Given the description of an element on the screen output the (x, y) to click on. 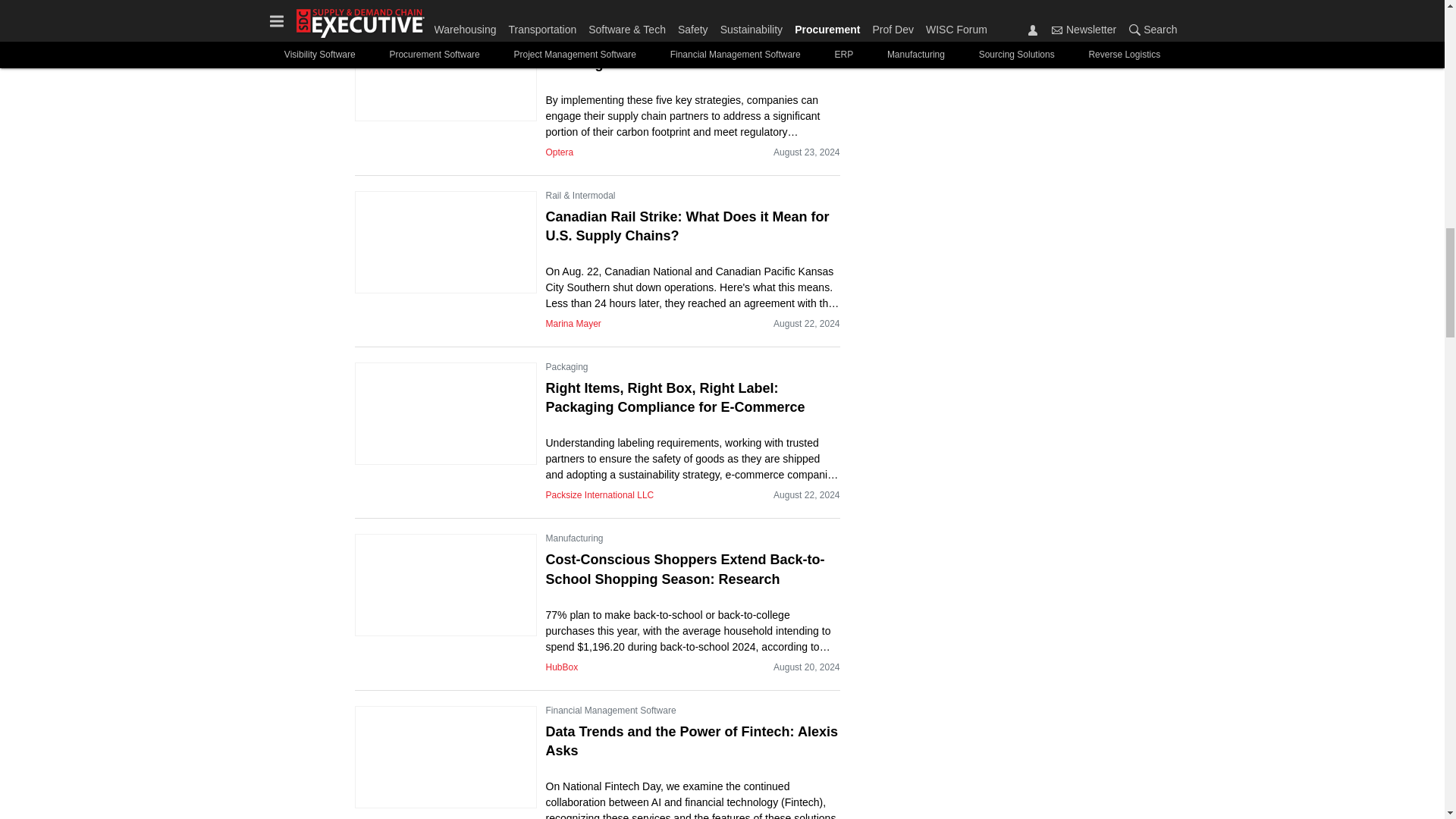
Twitter X icon (911, 19)
Flipboard icon (996, 19)
YouTube icon (1037, 19)
LinkedIn icon (955, 19)
Facebook icon (870, 19)
